Given the description of an element on the screen output the (x, y) to click on. 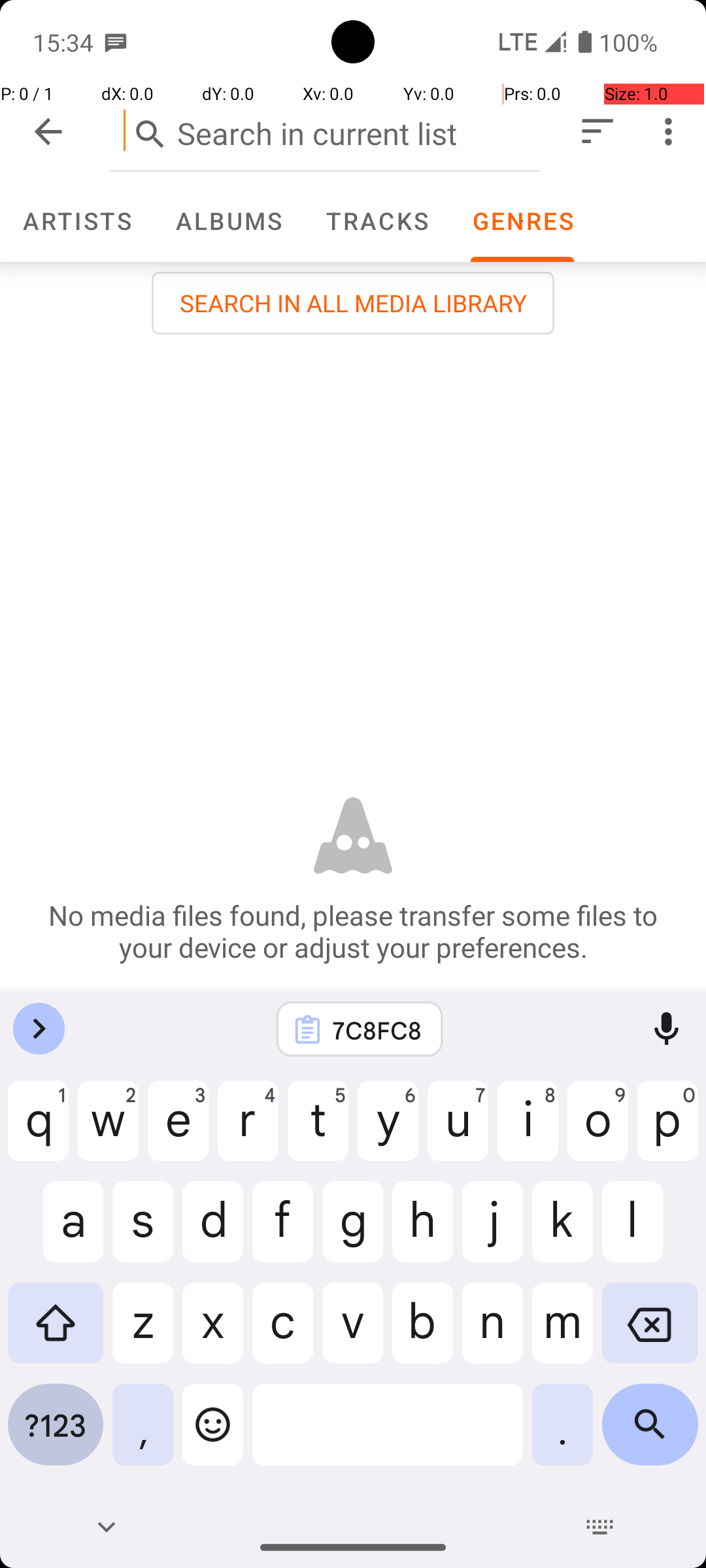
SEARCH IN ALL MEDIA LIBRARY Element type: android.widget.Button (352, 302)
No media files found, please transfer some files to your device or adjust your preferences. Element type: android.widget.TextView (352, 930)
   Search in current list Element type: android.widget.AutoCompleteTextView (324, 130)
